Given the description of an element on the screen output the (x, y) to click on. 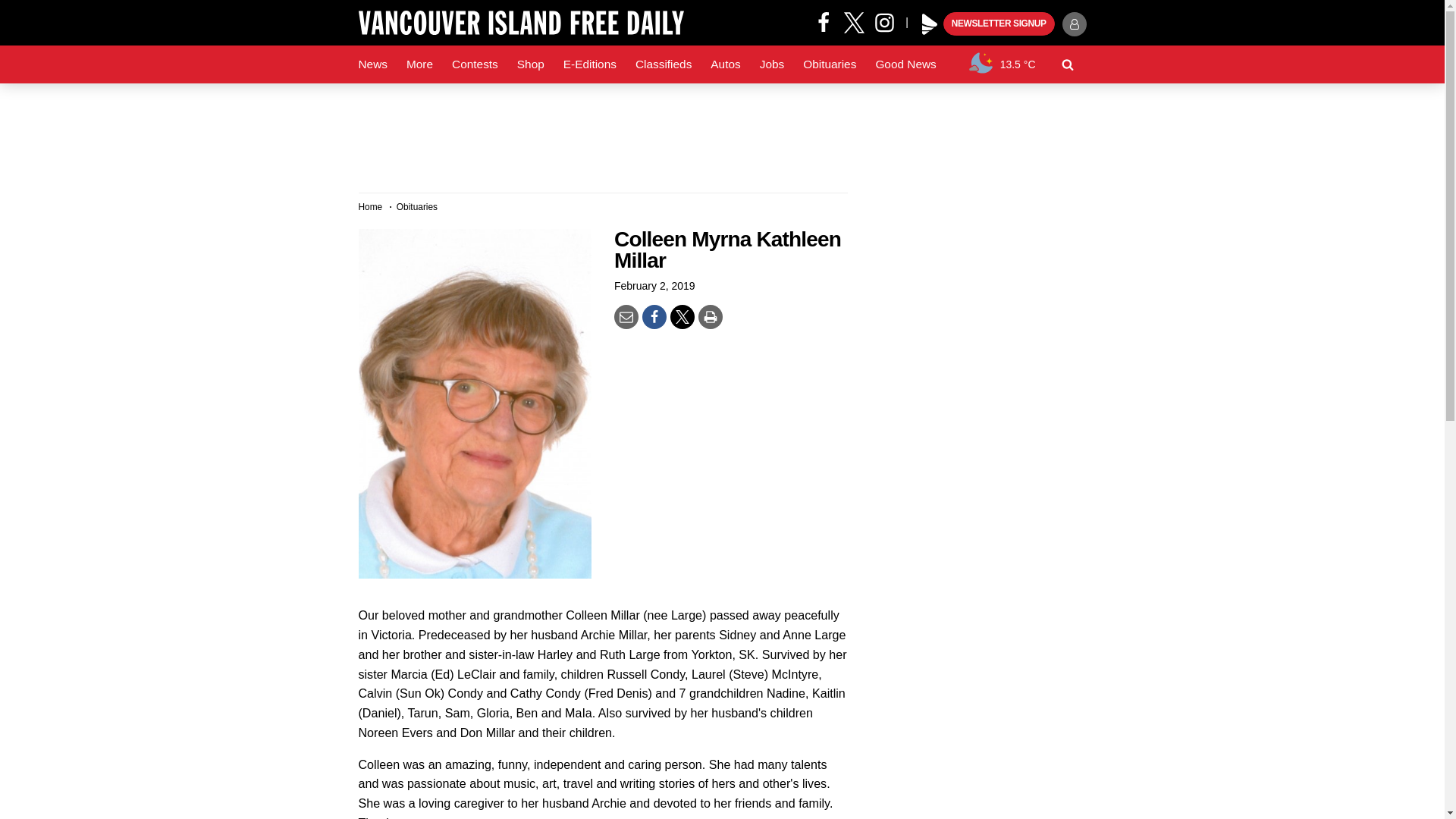
Instagram (889, 21)
Facebook (823, 21)
News (372, 64)
Play (929, 24)
NEWSLETTER SIGNUP (998, 24)
Black Press Media (929, 24)
X (853, 21)
